Given the description of an element on the screen output the (x, y) to click on. 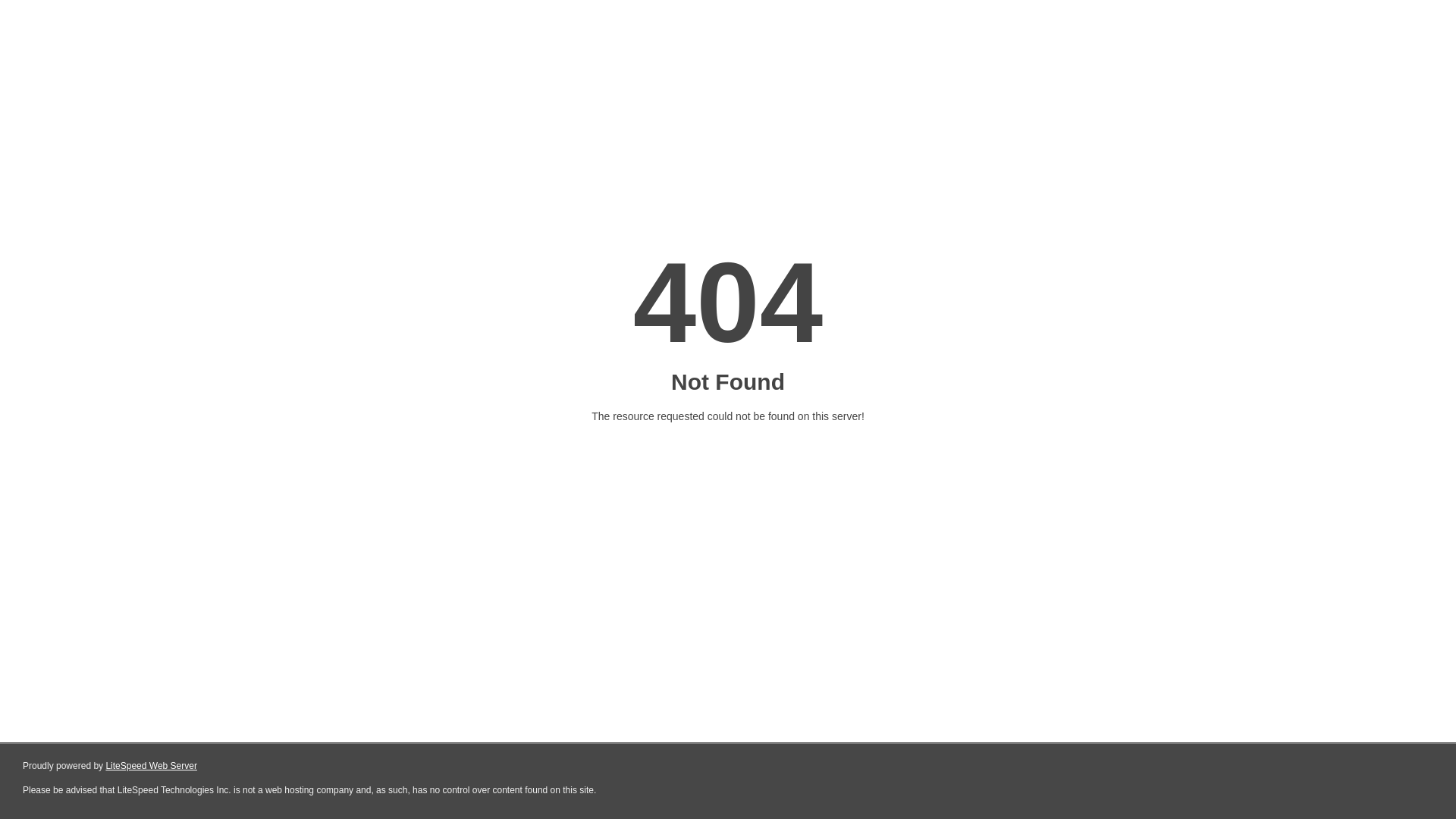
LiteSpeed Web Server Element type: text (151, 765)
